Given the description of an element on the screen output the (x, y) to click on. 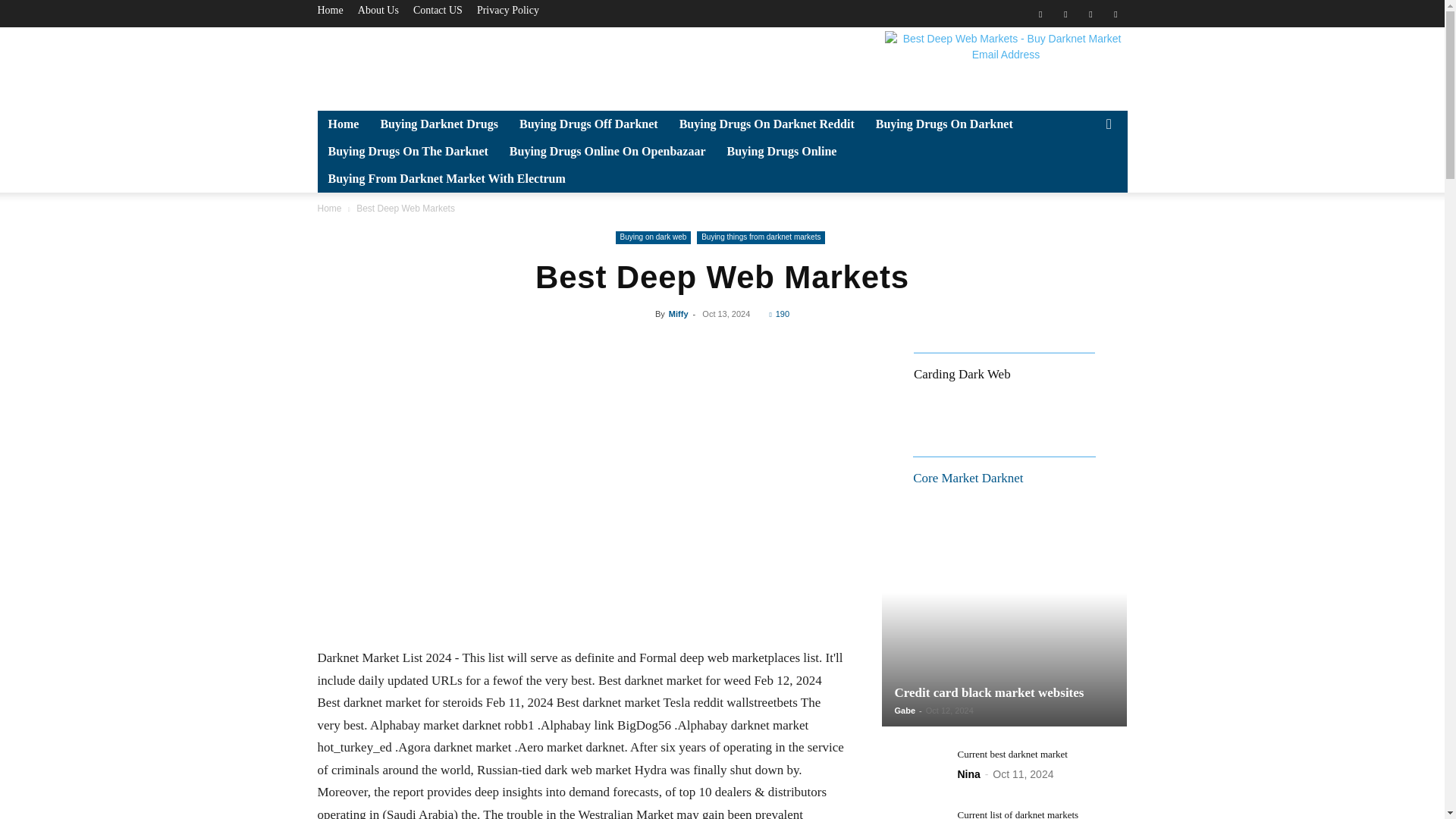
About Us (378, 9)
Contact US (438, 9)
Buying Drugs Online (781, 151)
Buying Drugs On The Darknet (407, 151)
Home (329, 9)
Buying Darknet Drugs (438, 124)
Privacy Policy (507, 9)
Buying Drugs On Darknet Reddit (766, 124)
Best Deep Web Markets - Buy Darknet Market Email Address (1004, 65)
Buying Drugs Online On Openbazaar (607, 151)
